Given the description of an element on the screen output the (x, y) to click on. 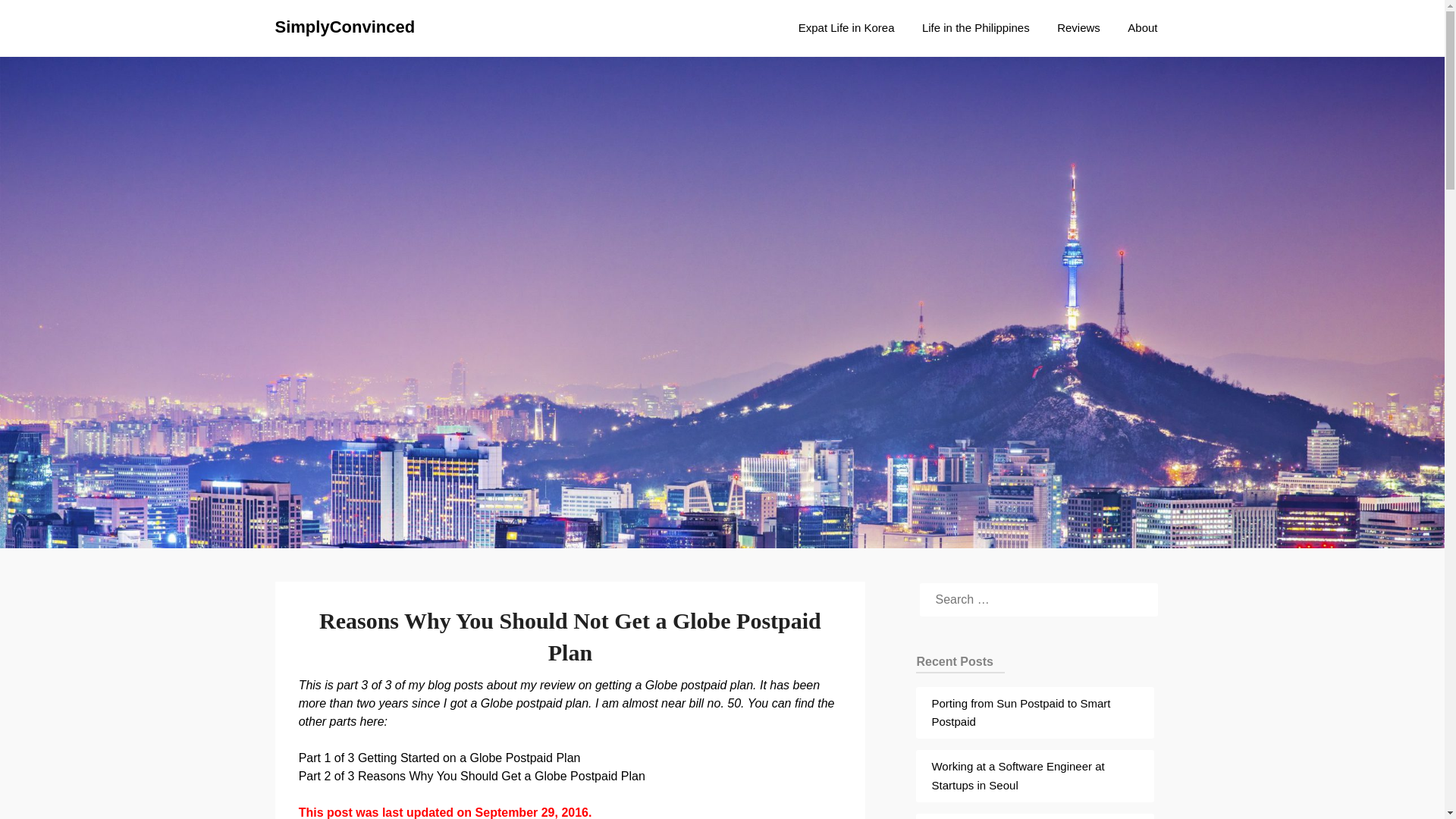
Reviews (1078, 27)
Working at a Software Engineer at Startups in Seoul (1017, 775)
Life in the Philippines (976, 27)
Search (38, 22)
Expat Life in Korea (846, 27)
Porting from Sun Postpaid to Smart Postpaid (1020, 712)
About (1142, 27)
SimplyConvinced (344, 26)
